Given the description of an element on the screen output the (x, y) to click on. 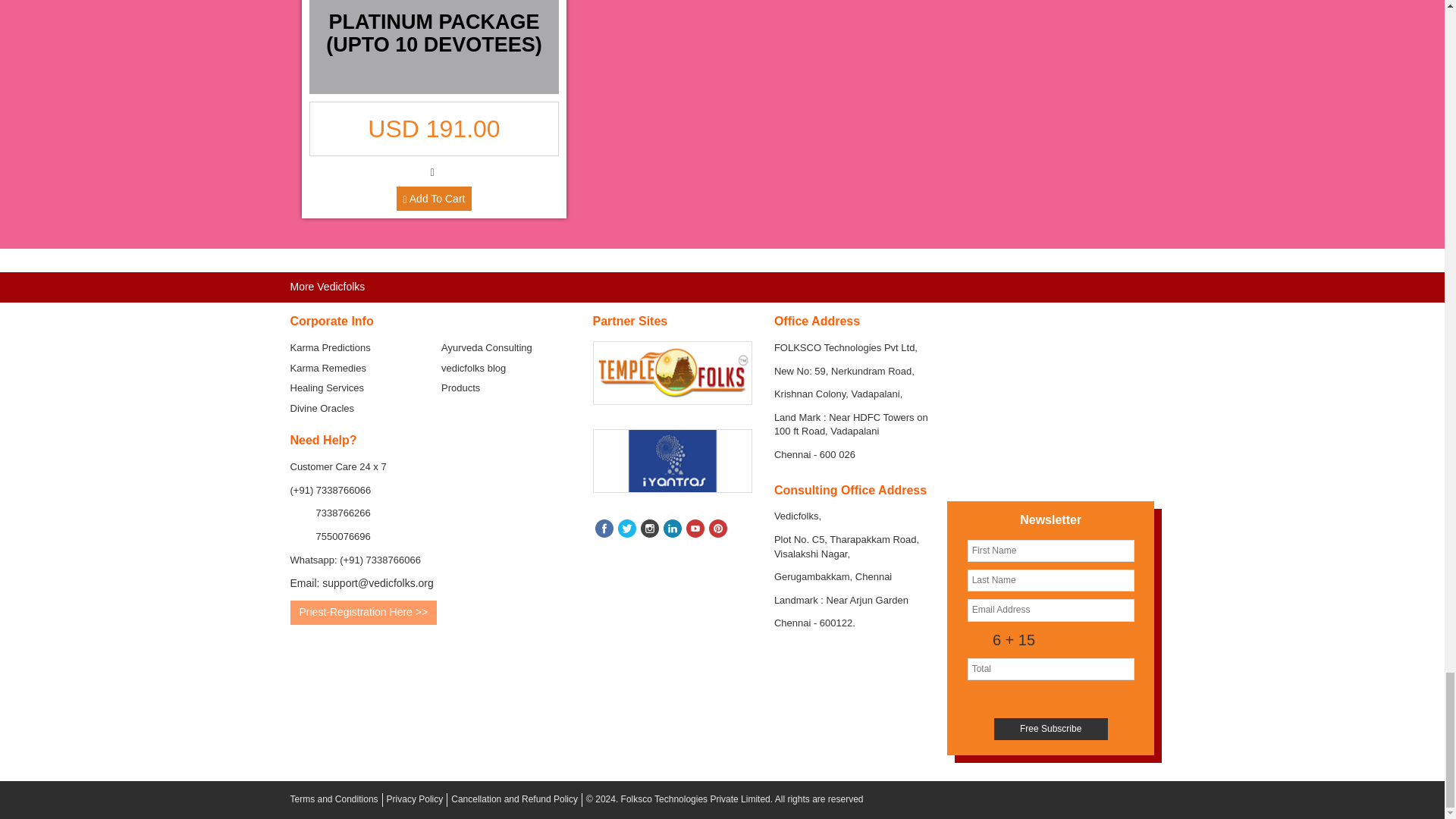
Free Subscribe (1051, 729)
